Given the description of an element on the screen output the (x, y) to click on. 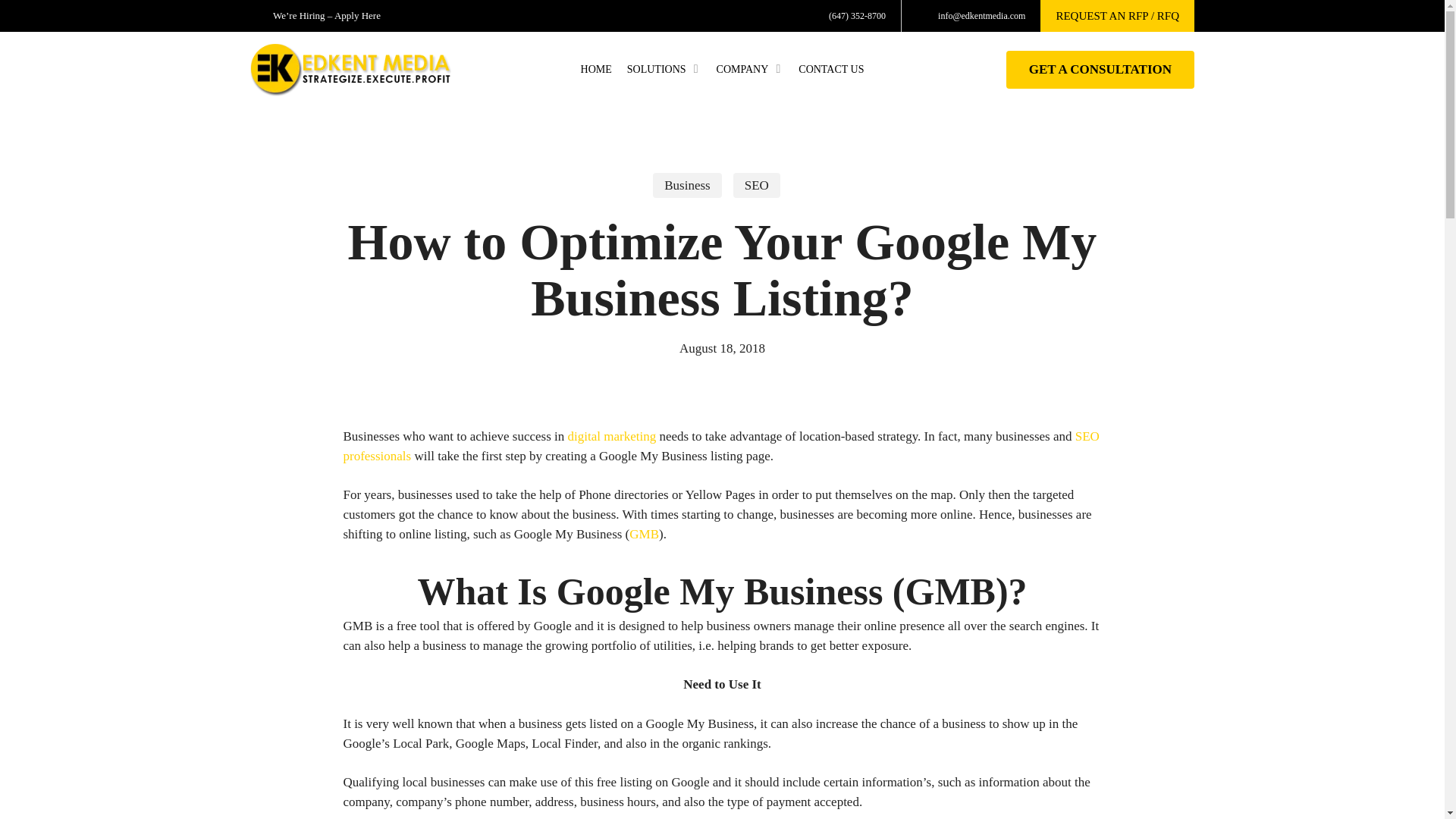
COMPANY (750, 69)
SOLUTIONS (664, 69)
CONTACT US (830, 69)
GET A CONSULTATION (1099, 69)
HOME (596, 69)
